Given the description of an element on the screen output the (x, y) to click on. 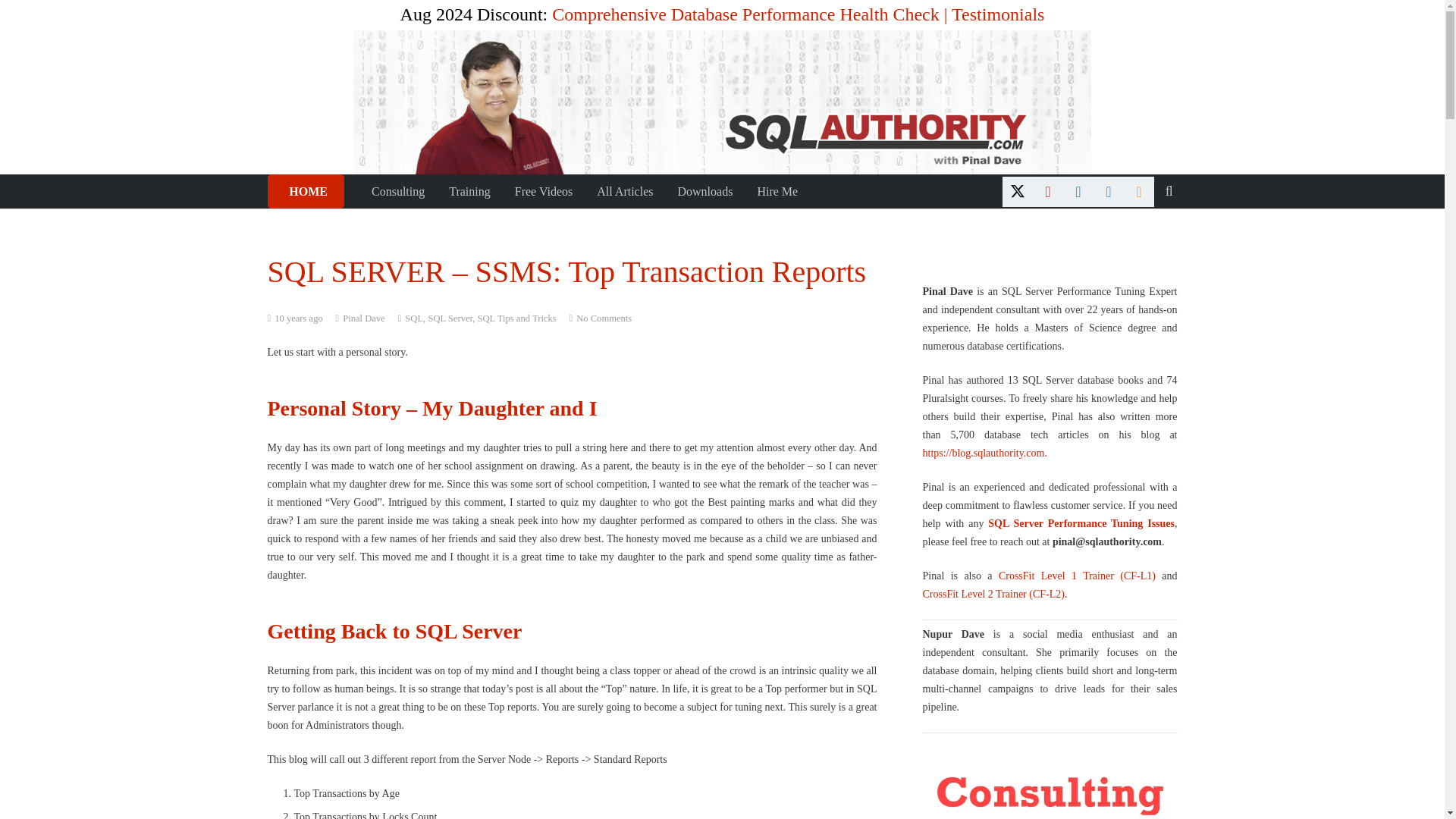
No Comments (603, 317)
Testimonials (997, 14)
YouTube (1047, 191)
No Comments (603, 317)
LinkedIn (1077, 191)
SQL Server (449, 317)
RSS (1139, 191)
HOME (304, 191)
Consulting (397, 191)
Free Videos (543, 191)
